Given the description of an element on the screen output the (x, y) to click on. 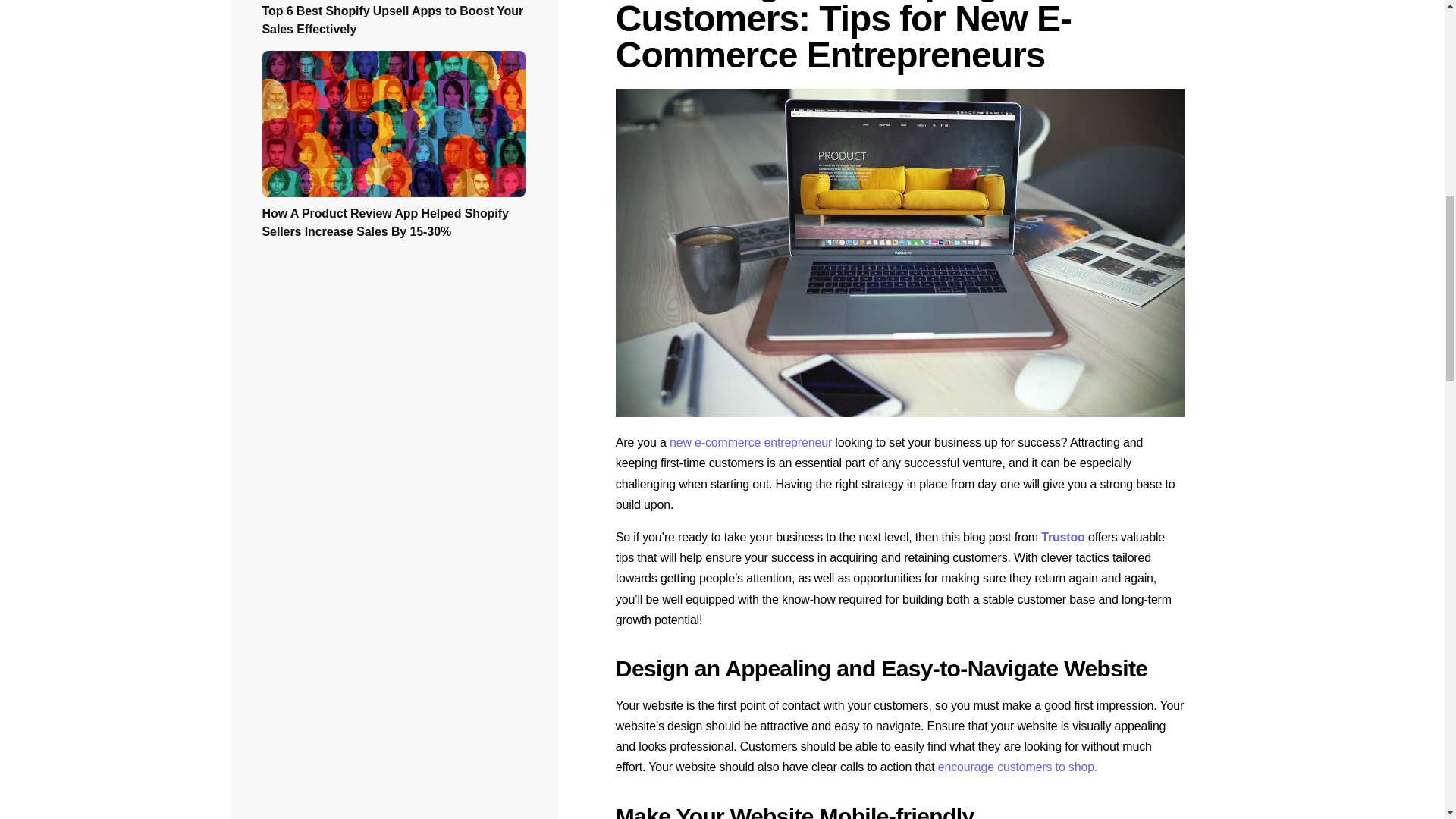
new e-commerce entrepreneur (750, 441)
Trustoo (1062, 536)
encourage customers to shop. (1017, 766)
